Given the description of an element on the screen output the (x, y) to click on. 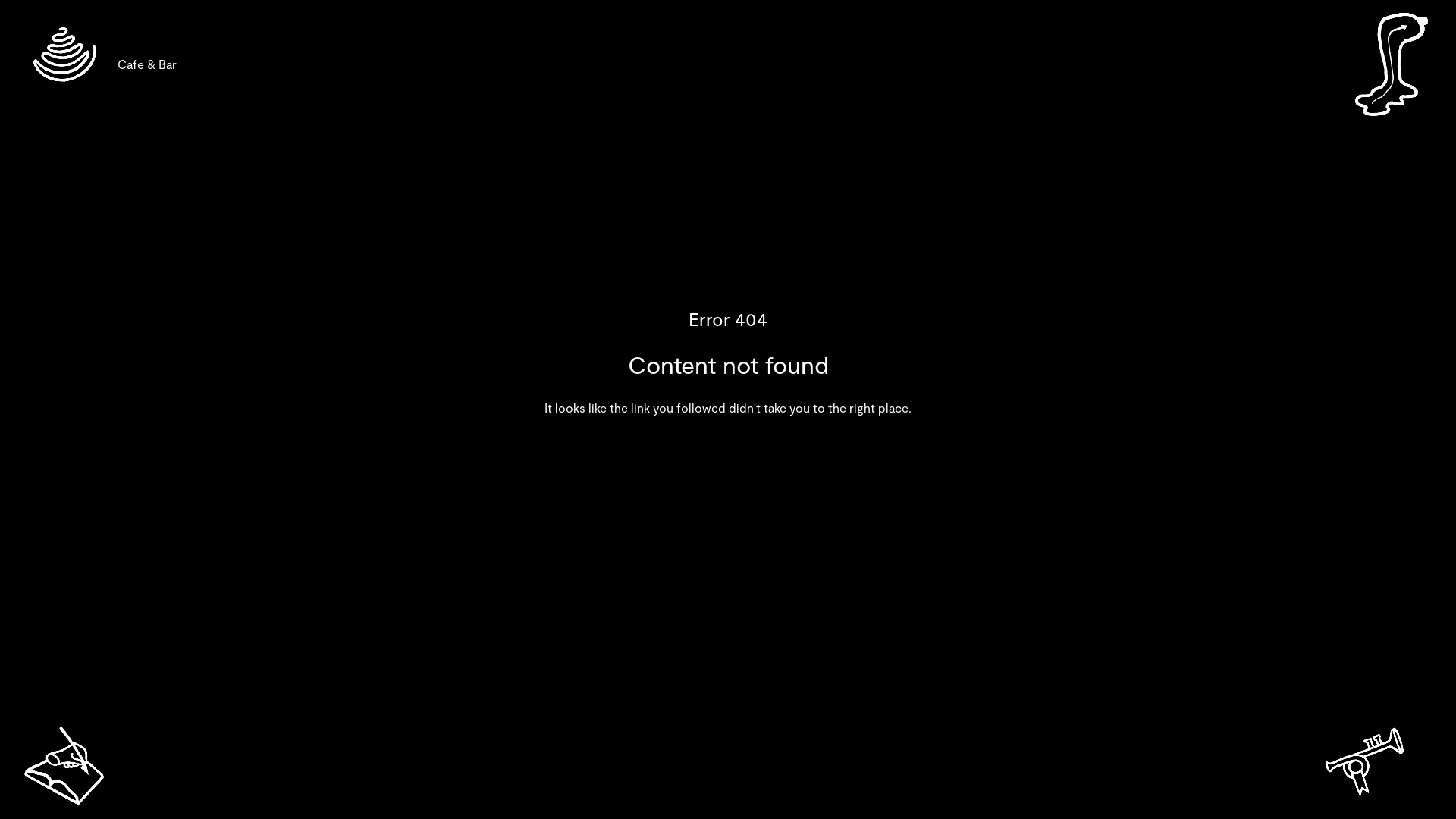
GO BACK Element type: text (727, 450)
RETURN TO HOMEPAGE Element type: text (727, 484)
Cafe & Bar Element type: text (64, 64)
